Given the description of an element on the screen output the (x, y) to click on. 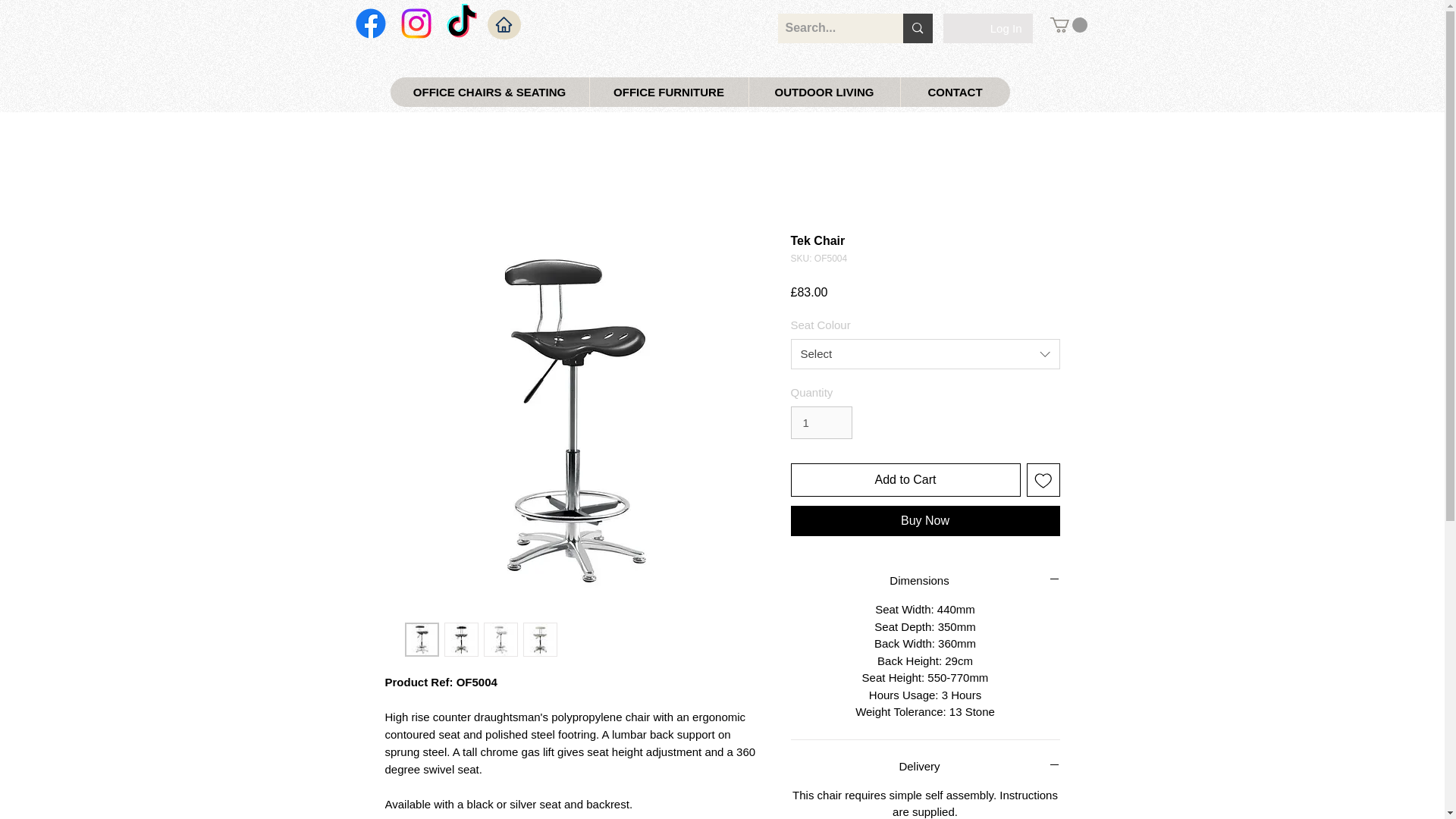
Select (924, 354)
CONTACT (954, 91)
Add to Cart (905, 479)
1 (820, 422)
Log In (1005, 27)
OUTDOOR LIVING (823, 91)
OFFICE FURNITURE (668, 91)
